Given the description of an element on the screen output the (x, y) to click on. 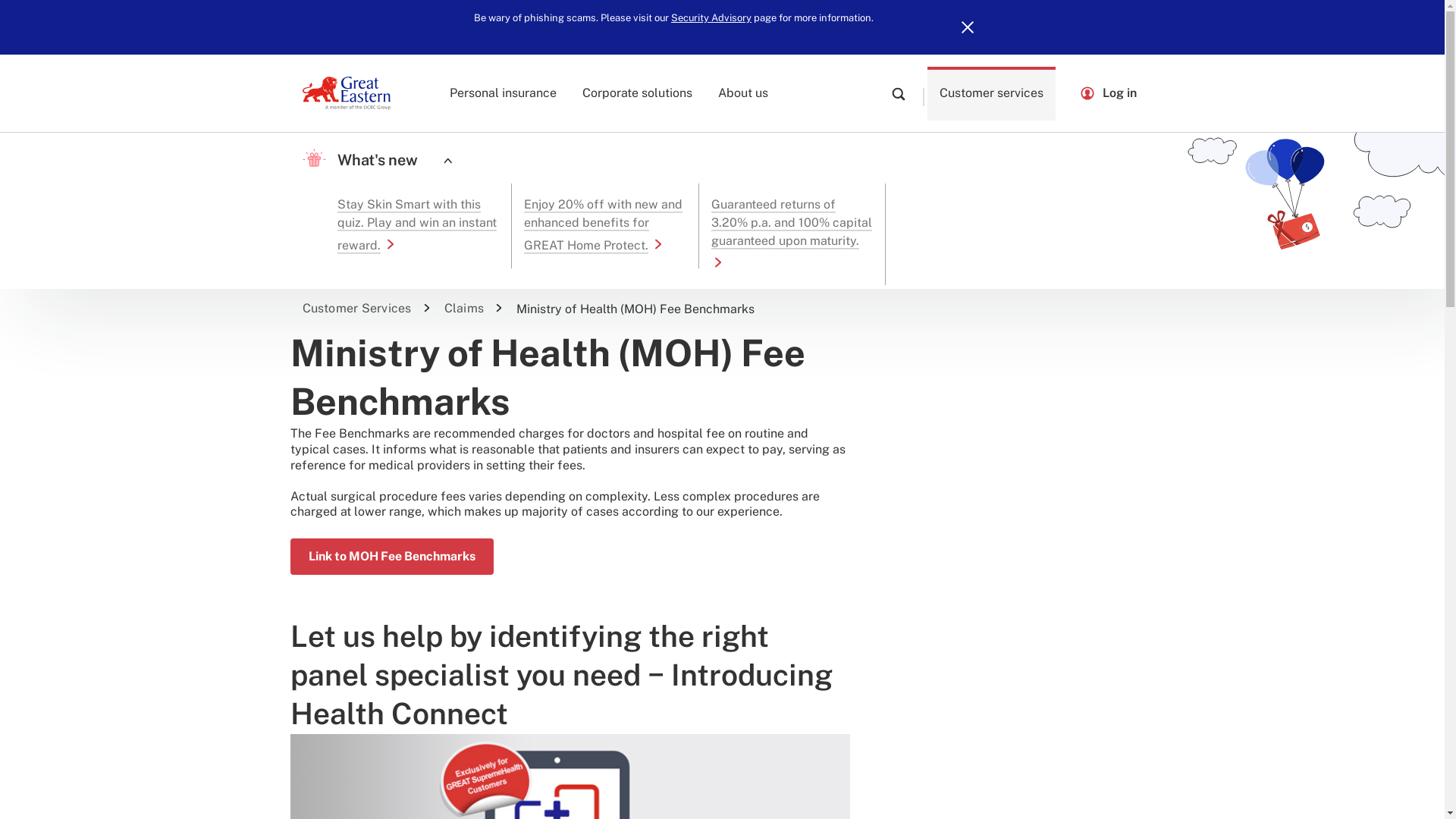
Great Eastern (345, 93)
Corporate solutions (637, 93)
Security Advisory (711, 17)
Personal insurance (503, 93)
About us (743, 93)
Personal insurance (503, 93)
